Given the description of an element on the screen output the (x, y) to click on. 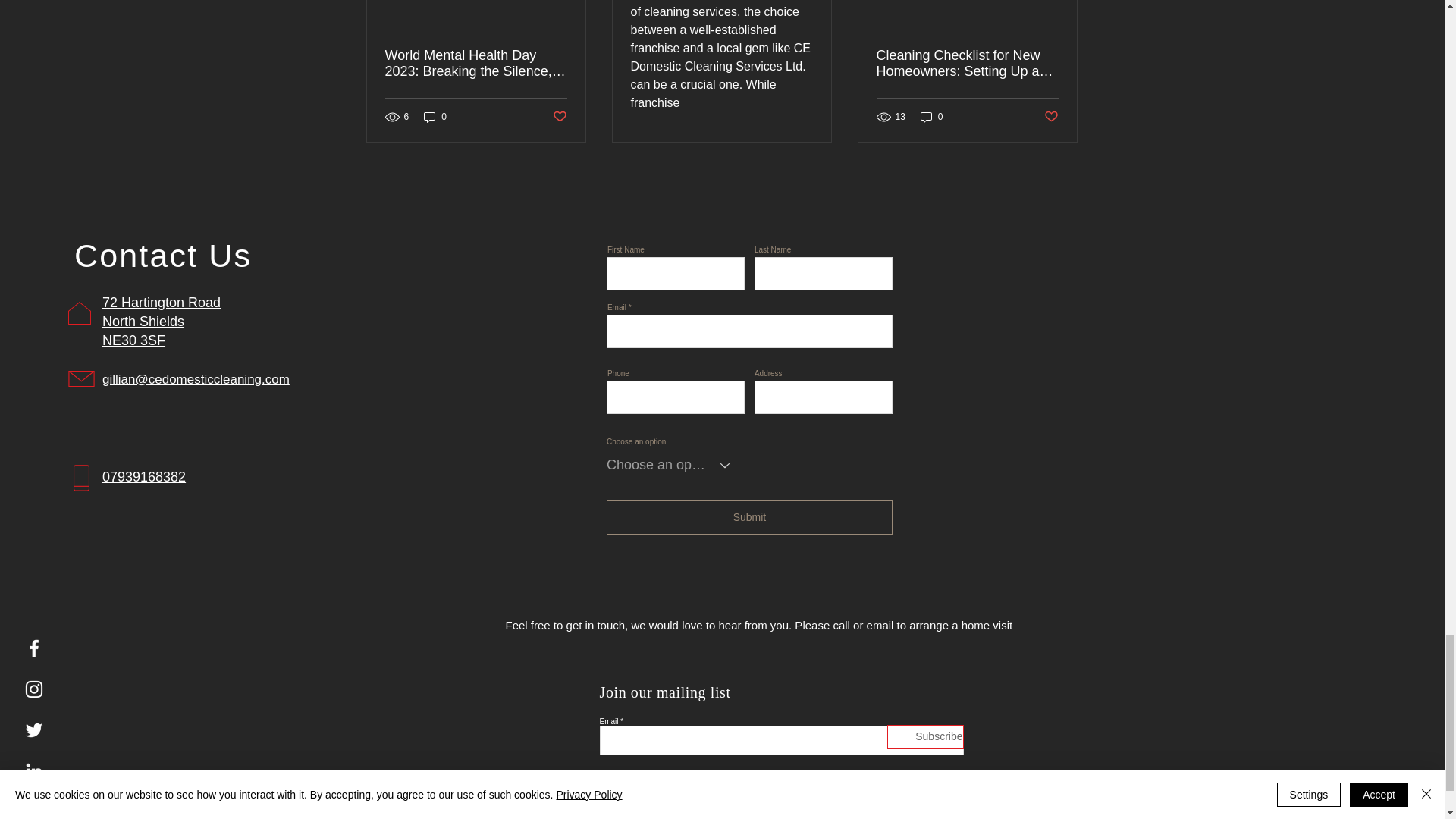
Post not marked as liked (558, 116)
Post not marked as liked (1050, 116)
0 (931, 115)
Post not marked as liked (804, 148)
0 (435, 115)
